Given the description of an element on the screen output the (x, y) to click on. 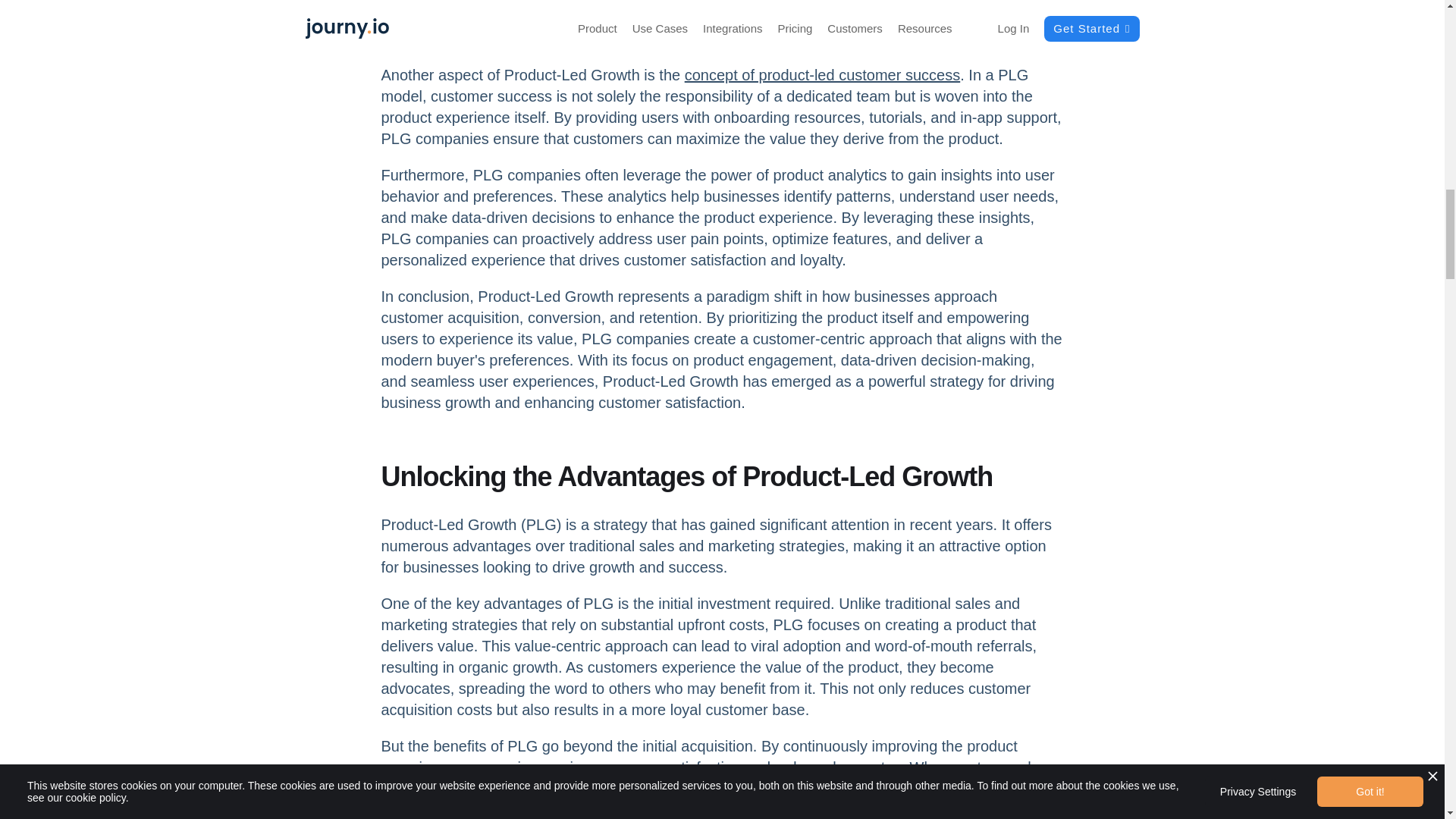
concept of product-led customer success (822, 74)
